Given the description of an element on the screen output the (x, y) to click on. 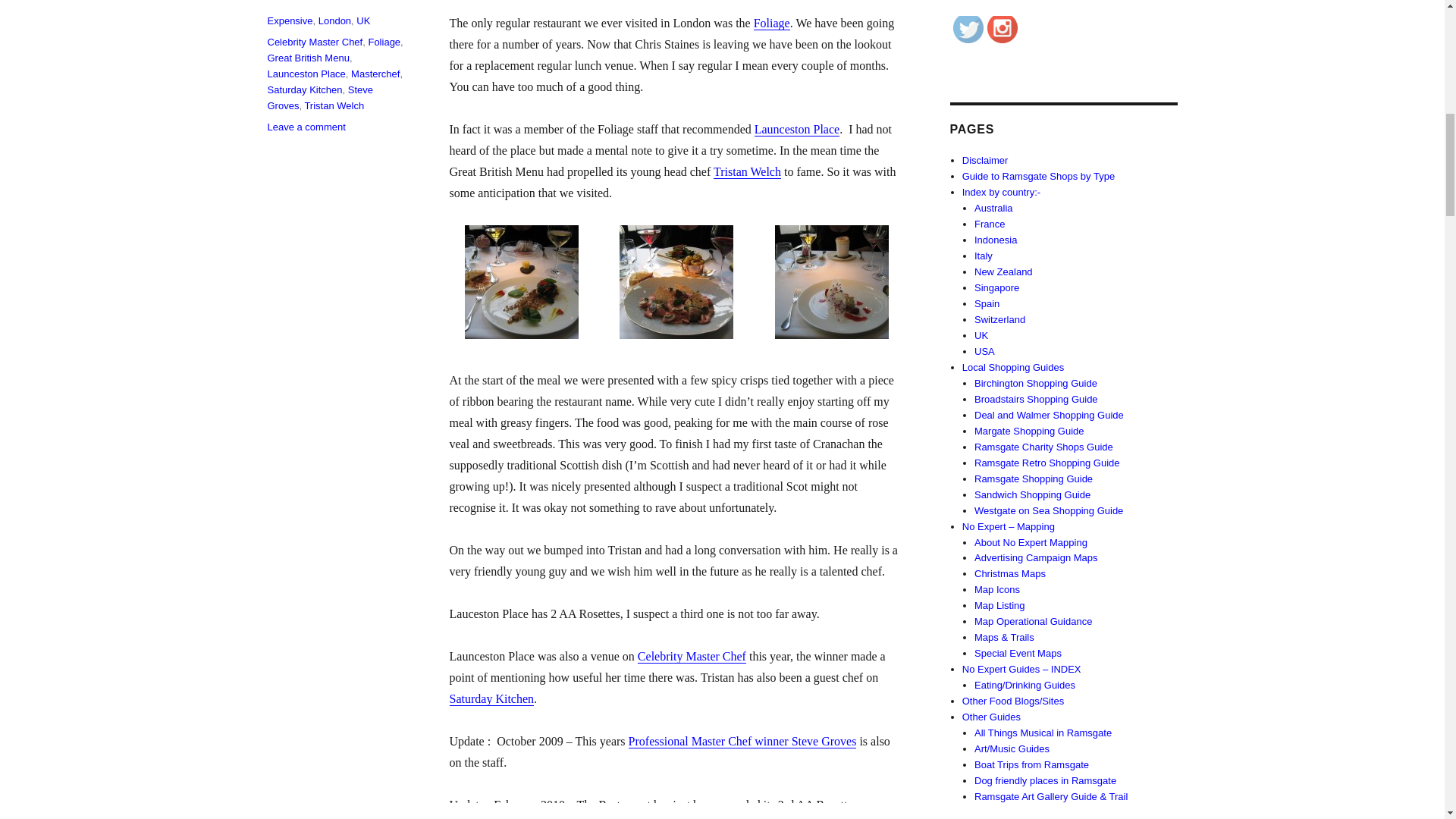
Celebrity Master Chef (691, 656)
Foliage (772, 22)
Launceston Place (797, 128)
Tristan Welch (746, 171)
Saturday Kitchen (491, 698)
Twitter (967, 28)
Instagram (1002, 28)
Professional Masterchef 2009 (742, 740)
